Given the description of an element on the screen output the (x, y) to click on. 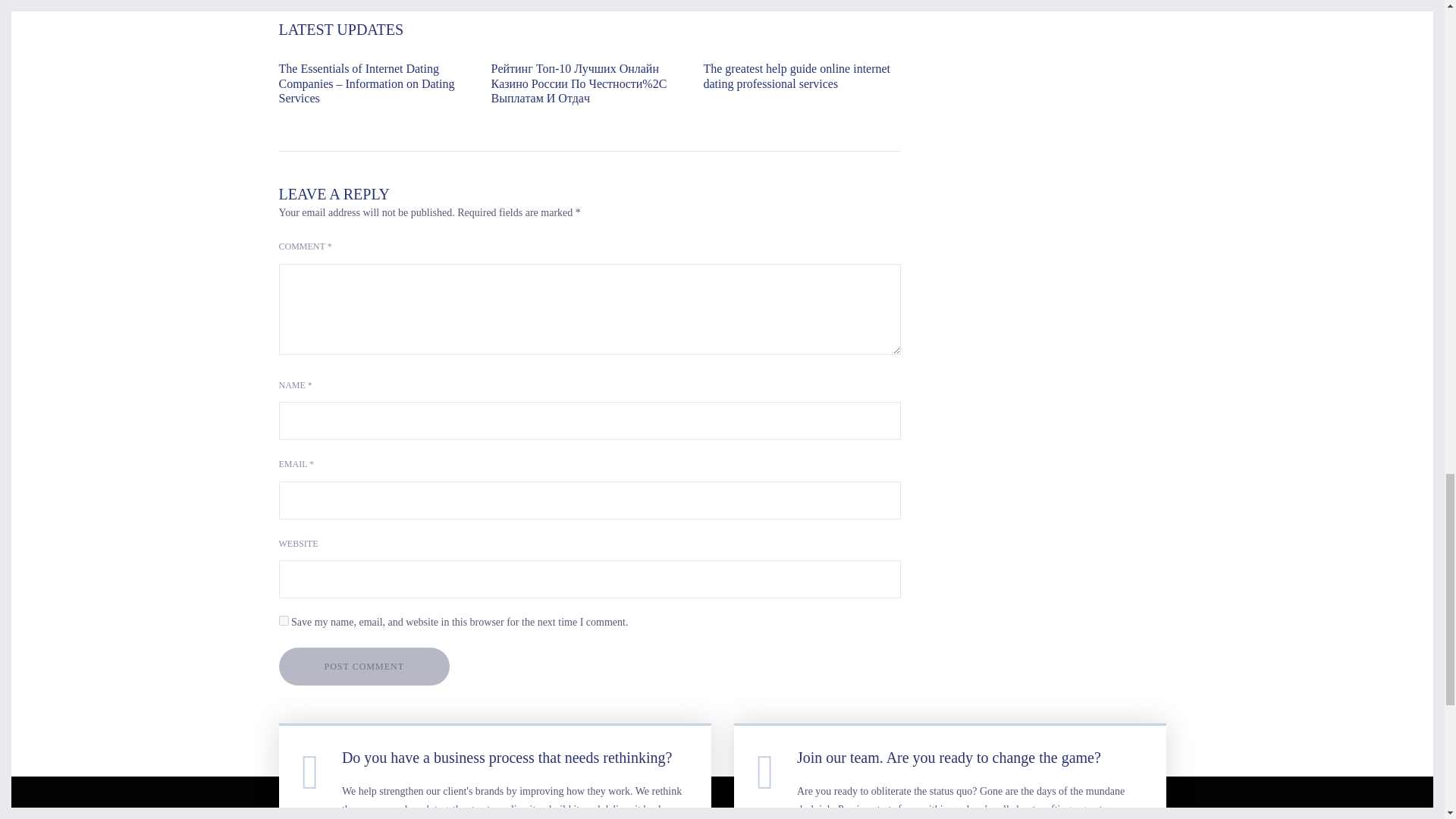
yes (283, 620)
Post Comment (364, 666)
